Given the description of an element on the screen output the (x, y) to click on. 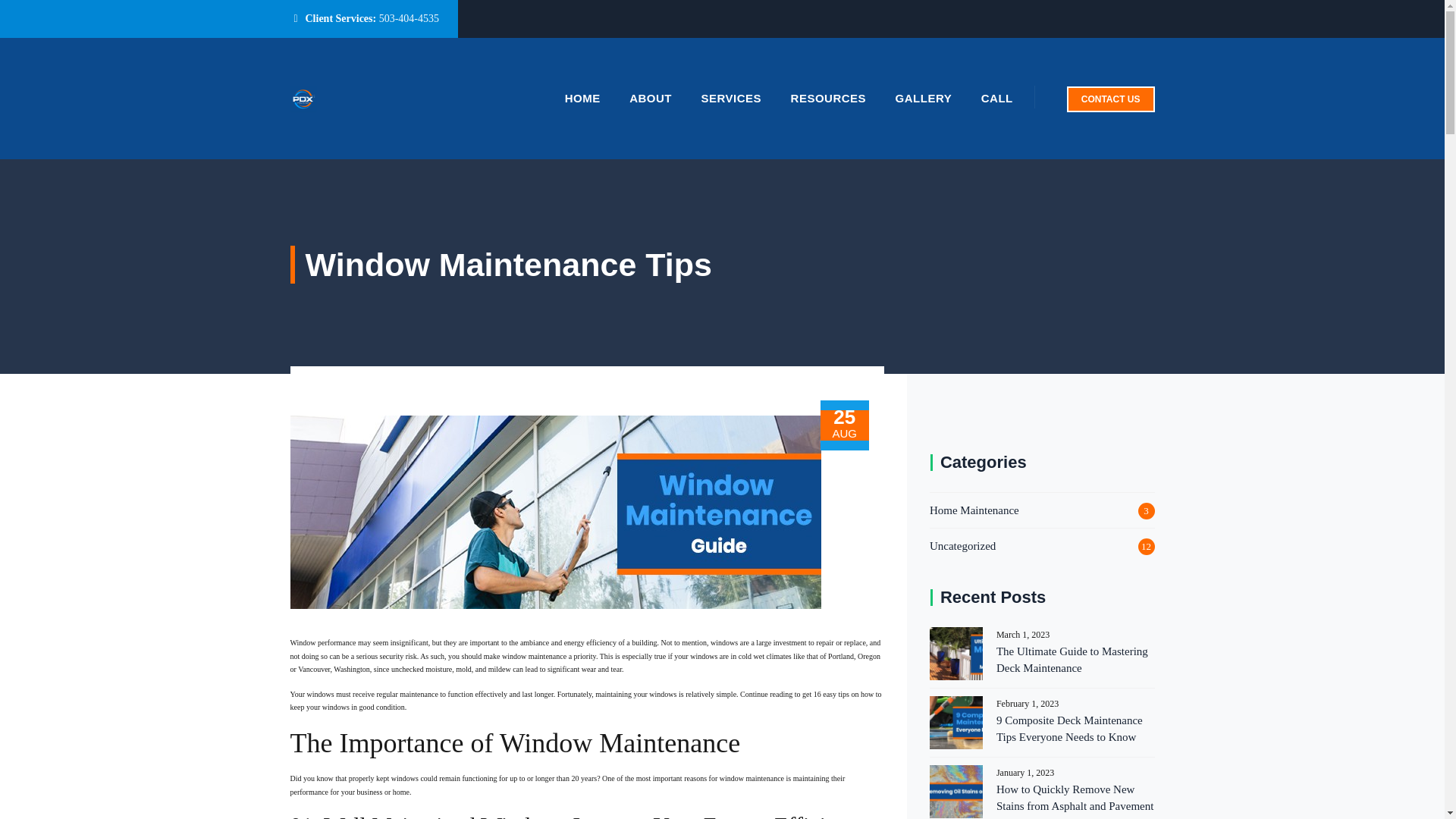
Uncategorized (962, 546)
longer than 20 years (564, 777)
CONTACT US (1110, 99)
Home Maintenance (974, 510)
9 Composite Deck Maintenance Tips Everyone Needs to Know (1042, 727)
503-404-4535 (408, 18)
The Ultimate Guide to Mastering Deck Maintenance (1042, 659)
